Given the description of an element on the screen output the (x, y) to click on. 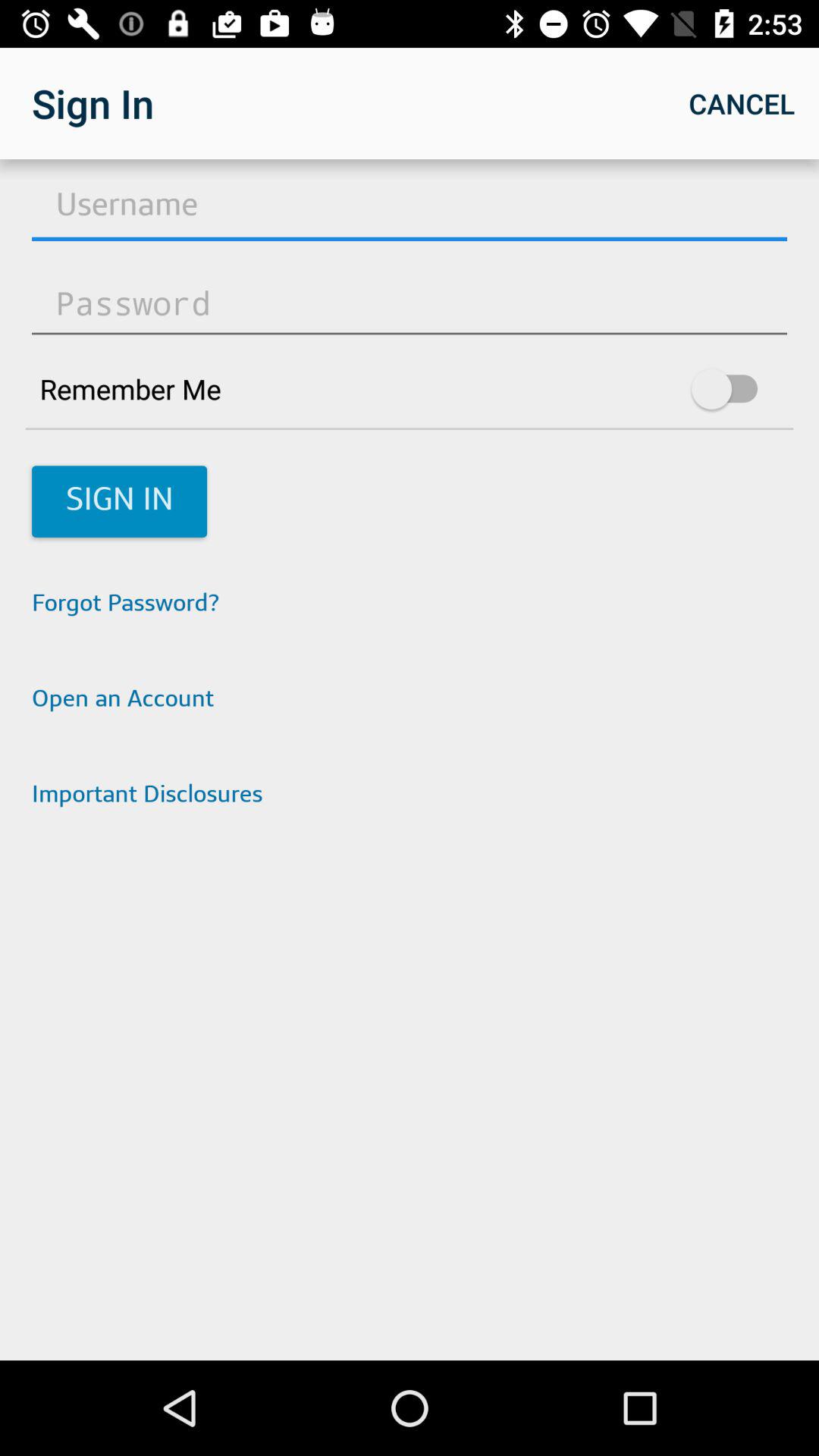
jump to cancel item (741, 103)
